Given the description of an element on the screen output the (x, y) to click on. 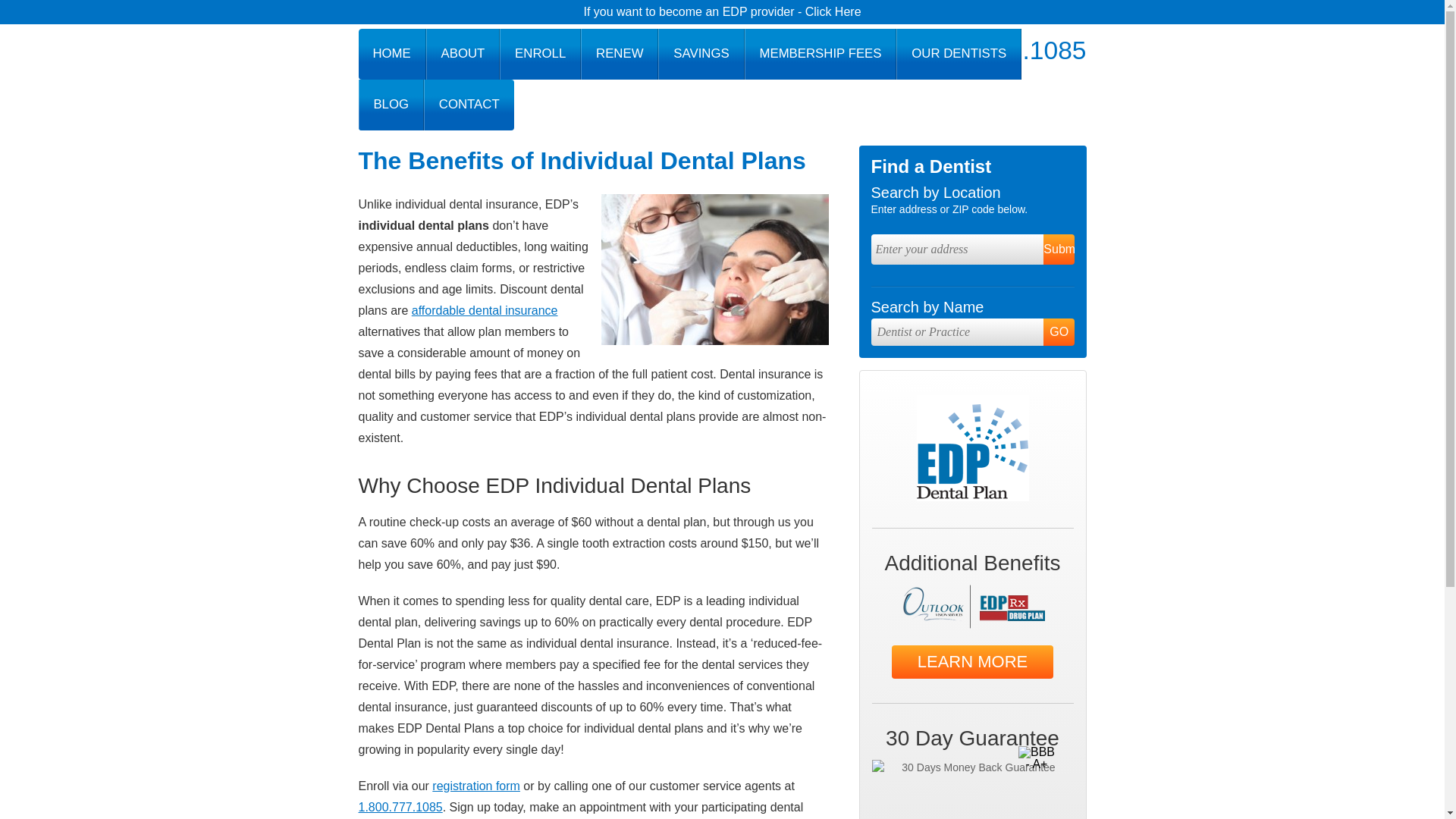
CONTACT (468, 104)
registration form (475, 785)
Go (1058, 331)
RENEW (619, 53)
OUR DENTISTS (959, 53)
SAVINGS (701, 53)
1.800.777.1085 (400, 807)
ENROLL (539, 53)
affordable dental insurance (484, 309)
HOME (391, 53)
